Given the description of an element on the screen output the (x, y) to click on. 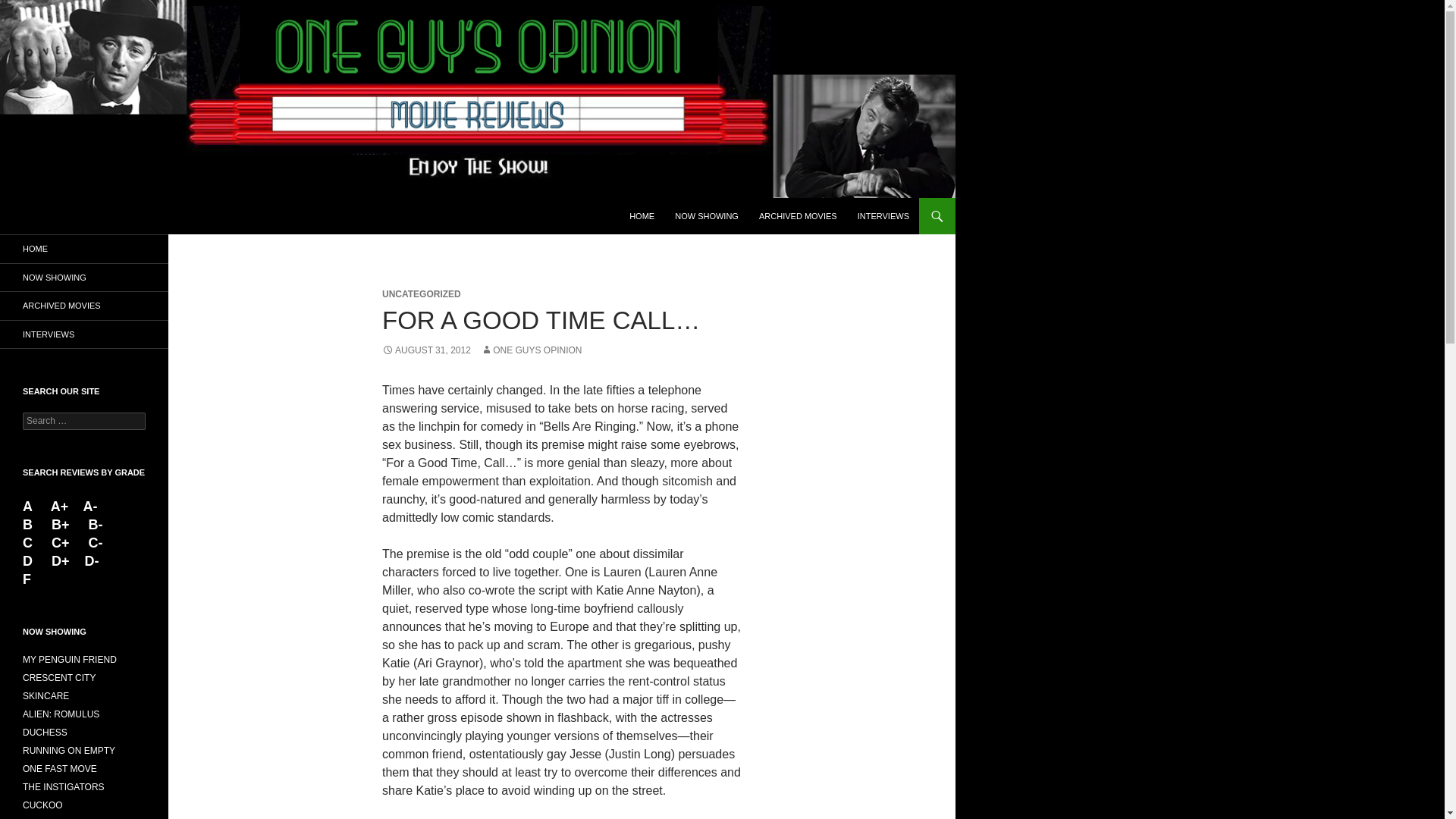
HOME (84, 248)
 D- (90, 560)
INTERVIEWS (84, 334)
A- (89, 506)
ONE GUYS OPINION (530, 349)
NOW SHOWING (706, 216)
ALIEN: ROMULUS (61, 714)
RUNNING ON EMPTY (69, 750)
B (29, 524)
